Given the description of an element on the screen output the (x, y) to click on. 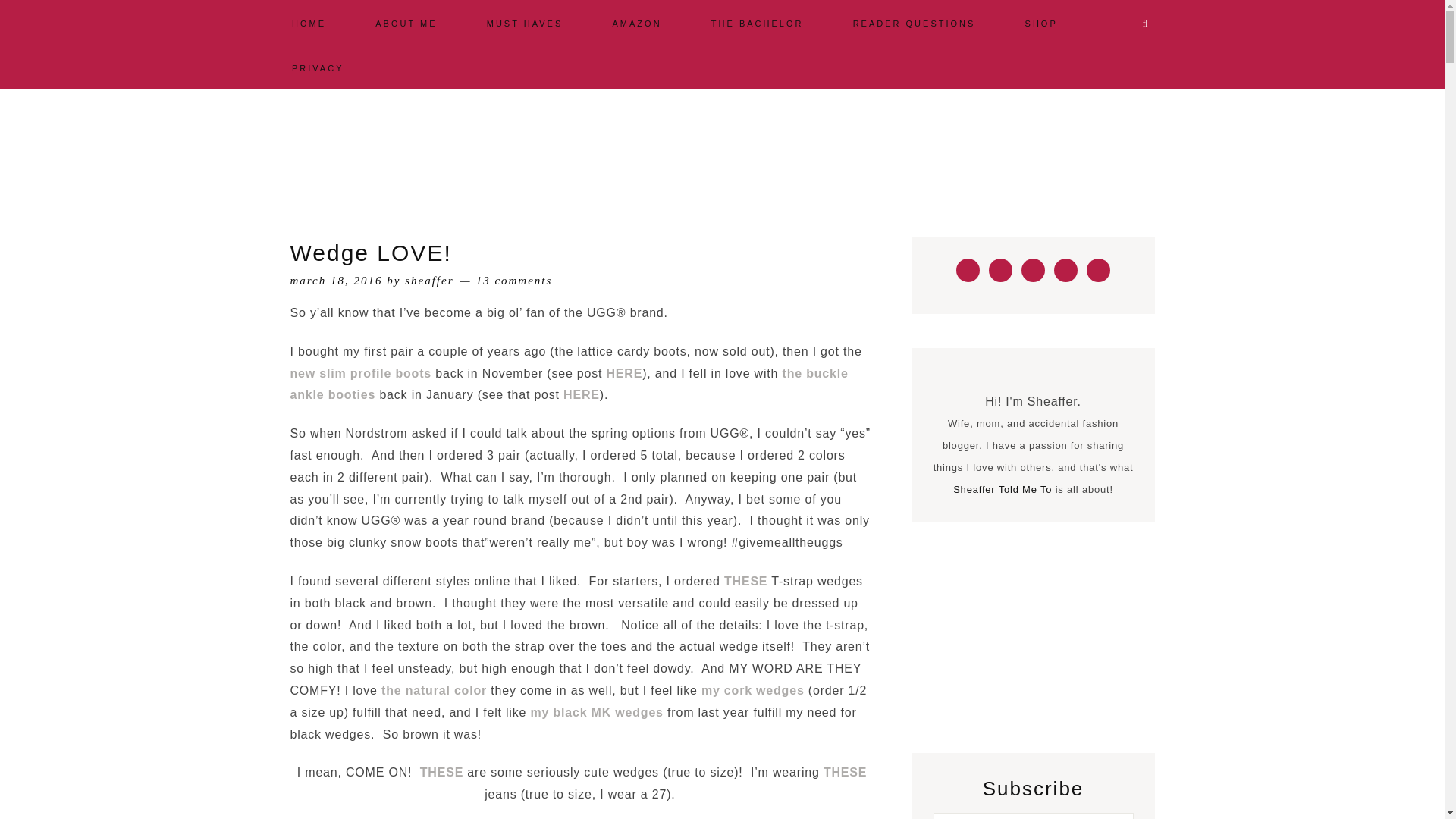
READER QUESTIONS (913, 22)
sheaffer (428, 280)
THESE (745, 581)
THE BACHELOR (757, 22)
SHOP (1041, 22)
THESE (845, 771)
THESE (441, 771)
my cork wedges (753, 689)
the natural color (433, 689)
ABOUT ME (406, 22)
